Given the description of an element on the screen output the (x, y) to click on. 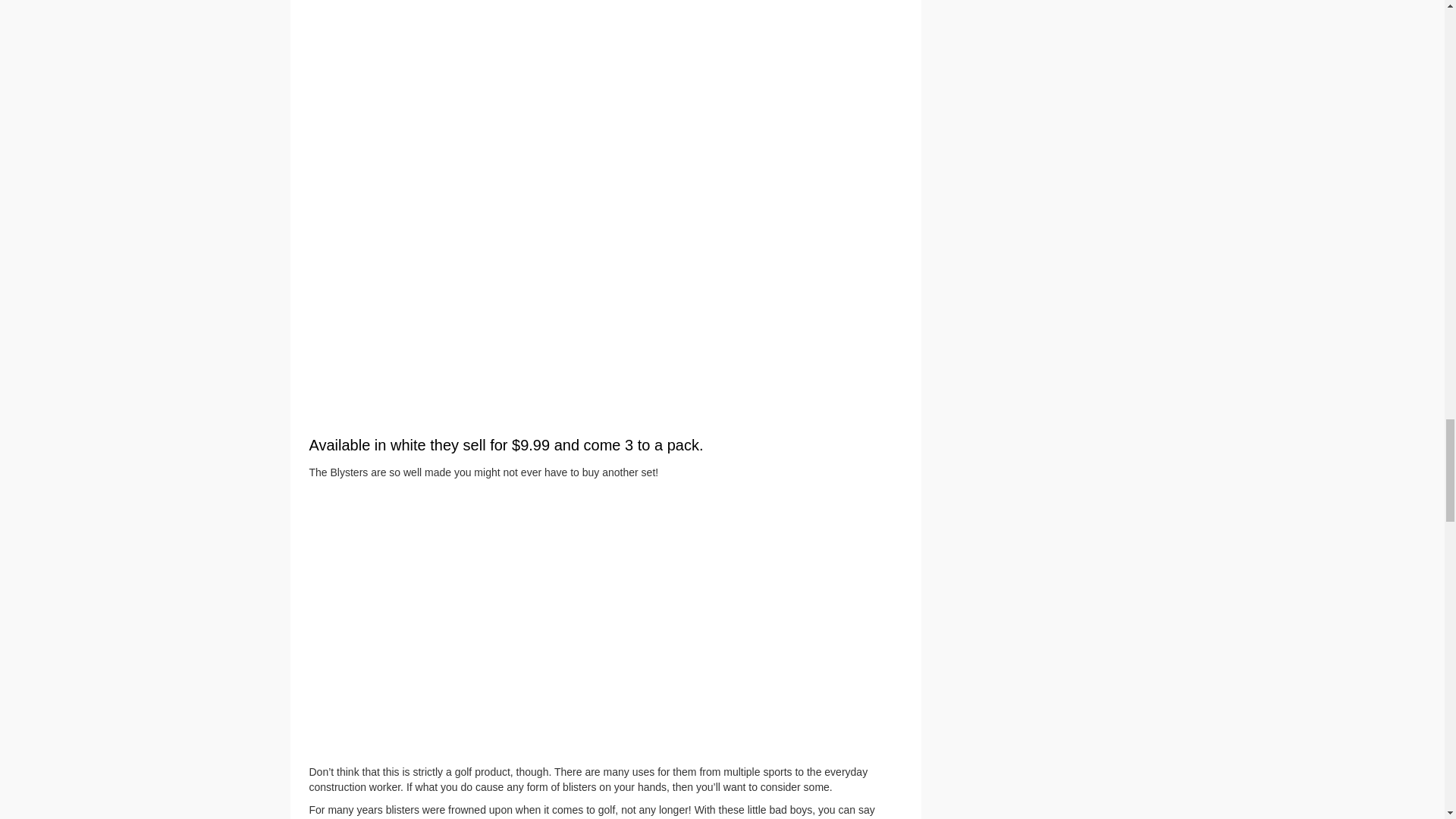
blysters (604, 622)
